Given the description of an element on the screen output the (x, y) to click on. 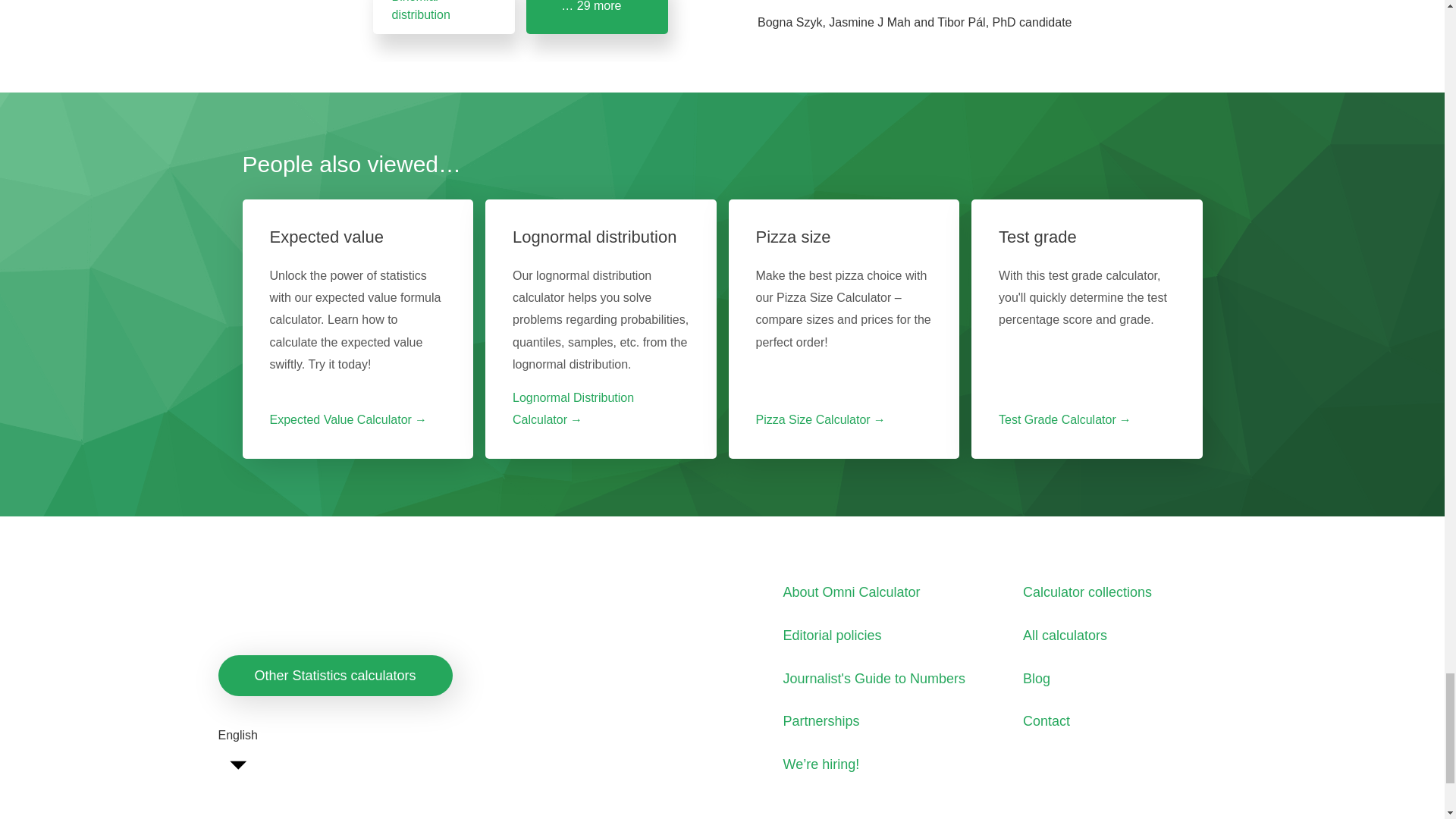
Other Statistics calculators (335, 675)
